Given the description of an element on the screen output the (x, y) to click on. 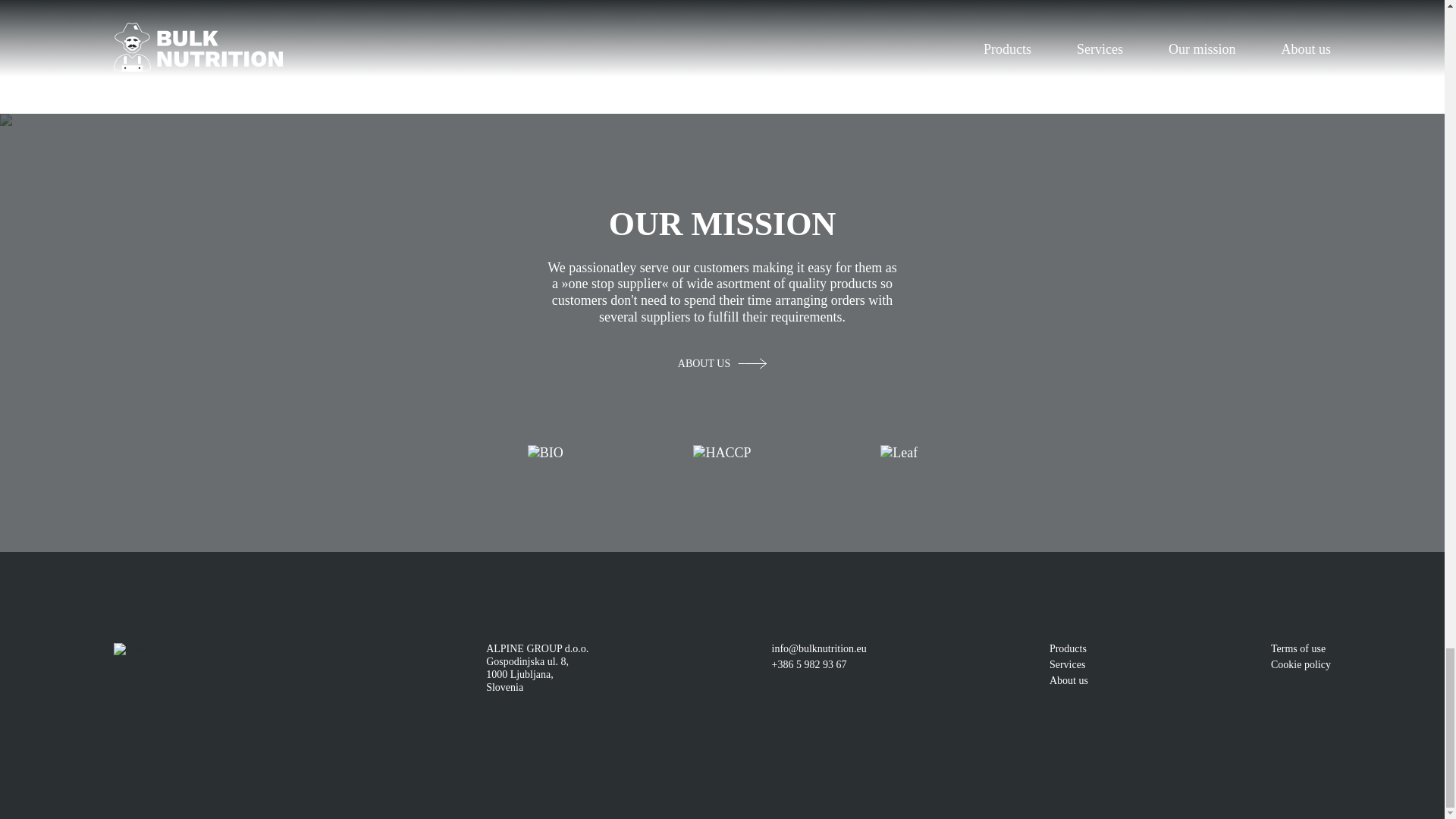
Products (1067, 648)
ABOUT US (722, 363)
Terms of use (1297, 648)
Services (1066, 664)
About us (1068, 680)
